Given the description of an element on the screen output the (x, y) to click on. 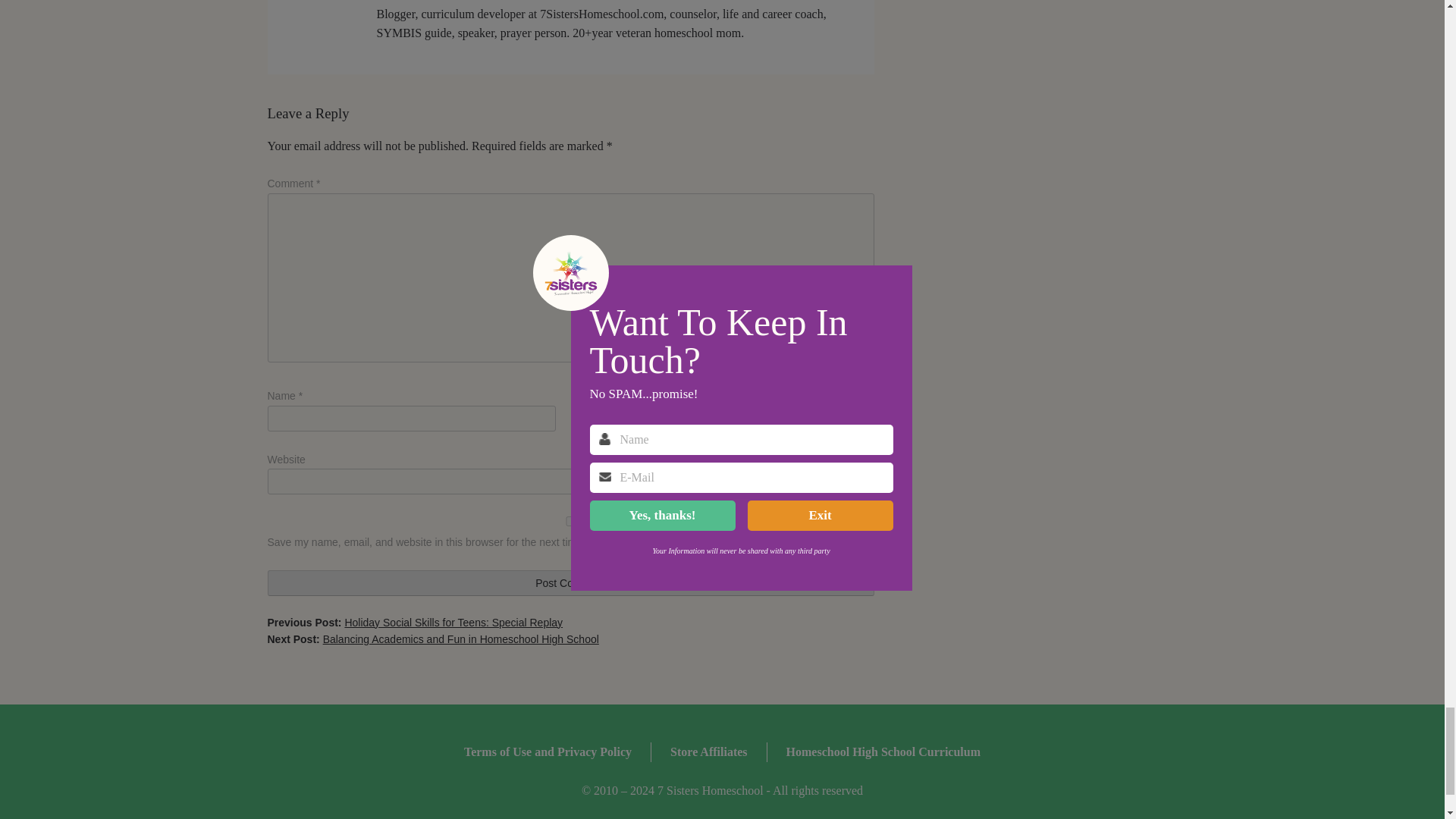
yes (569, 521)
Post Comment (569, 583)
